Given the description of an element on the screen output the (x, y) to click on. 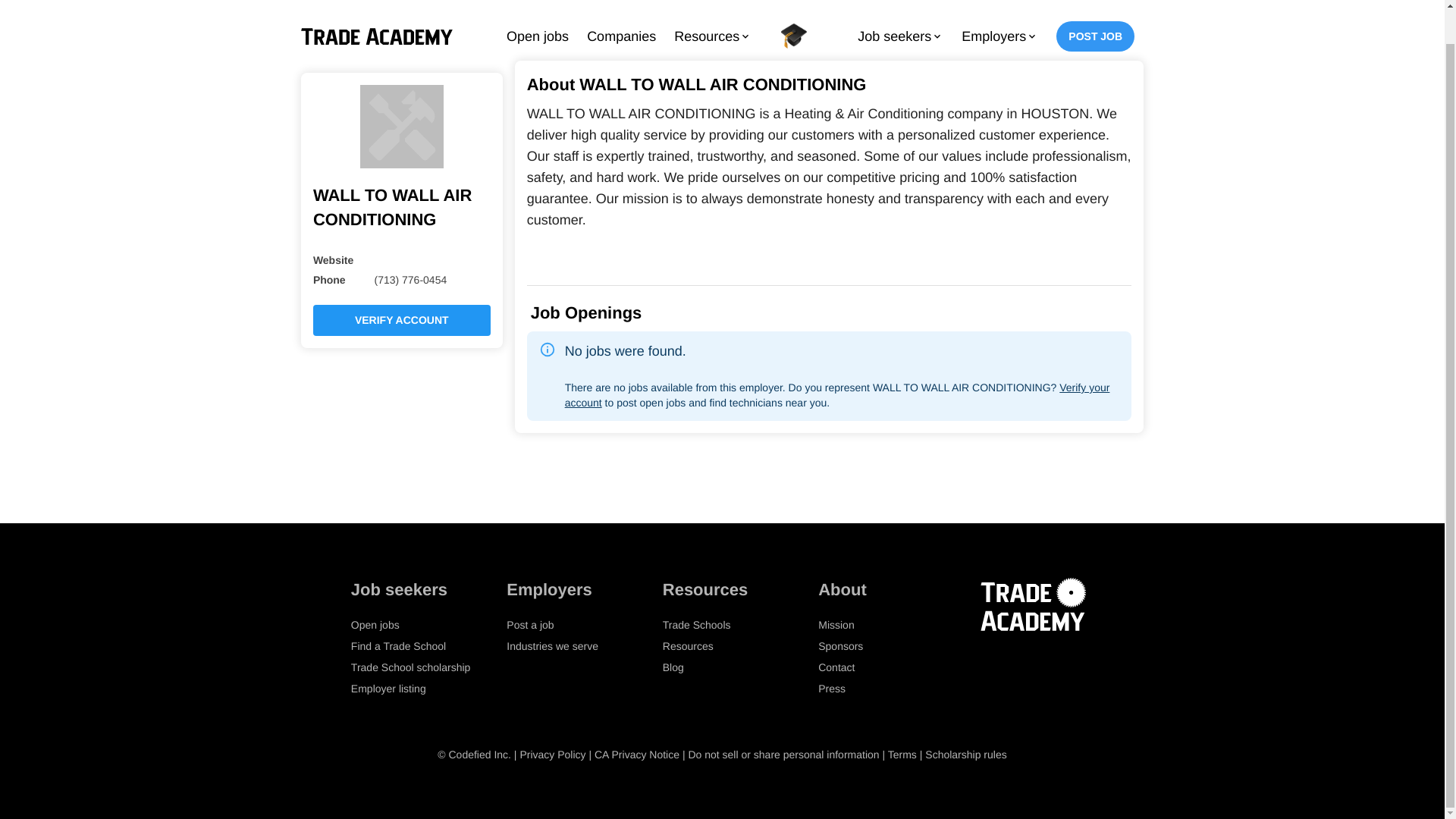
Sponsors (840, 645)
POST JOB (1094, 11)
Employer listing (388, 688)
Find a Trade School (397, 645)
Industries we serve (552, 645)
Scholarship (794, 12)
Contact (836, 666)
CA Privacy Notice (636, 754)
VERIFY ACCOUNT (401, 307)
Trade School scholarship (410, 666)
Do not sell or share personal information (783, 754)
POST JOB (1095, 8)
Scholarship rules (965, 754)
Post a job (529, 624)
Blog (673, 666)
